Given the description of an element on the screen output the (x, y) to click on. 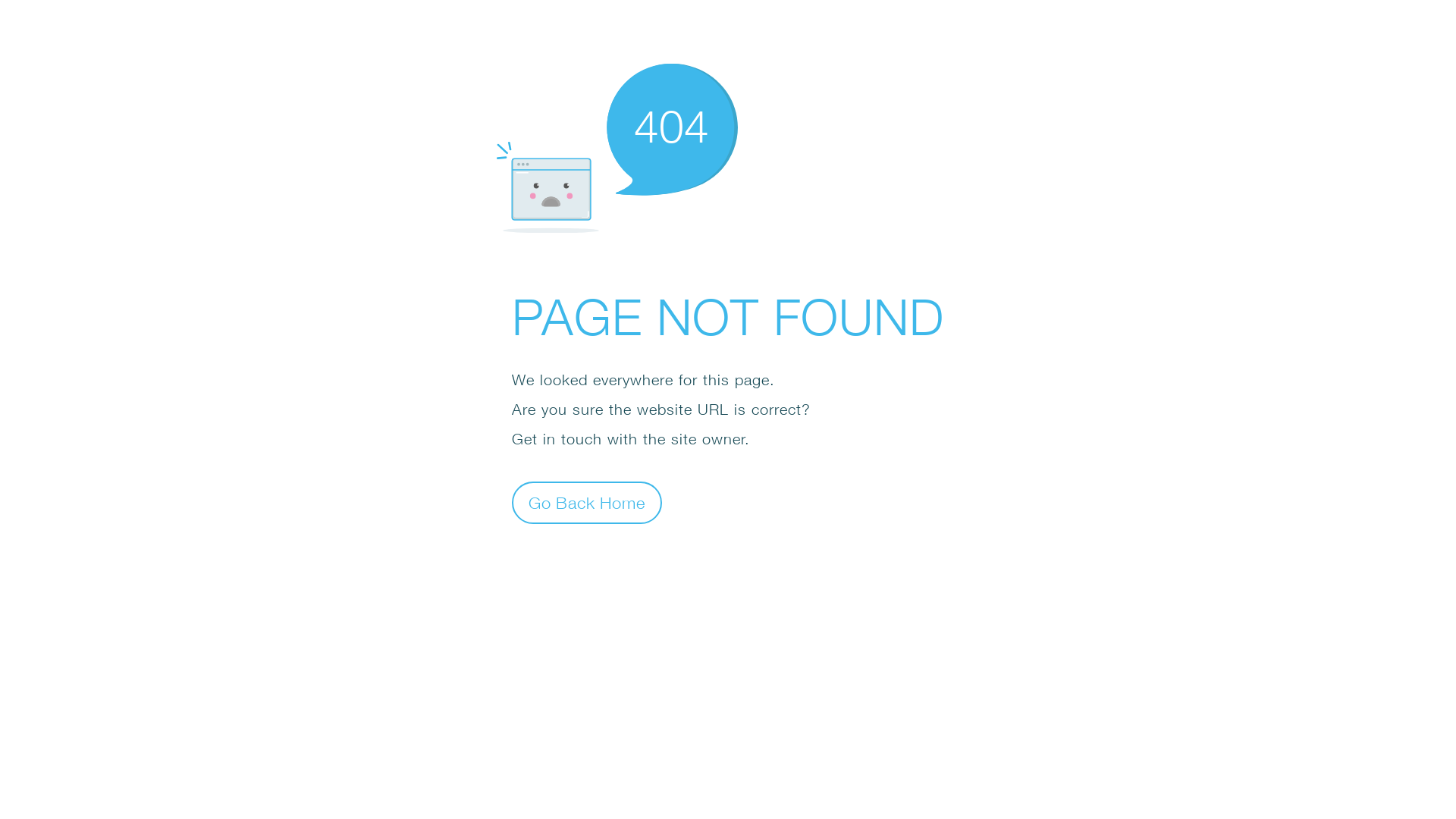
Go Back Home Element type: text (586, 502)
